Given the description of an element on the screen output the (x, y) to click on. 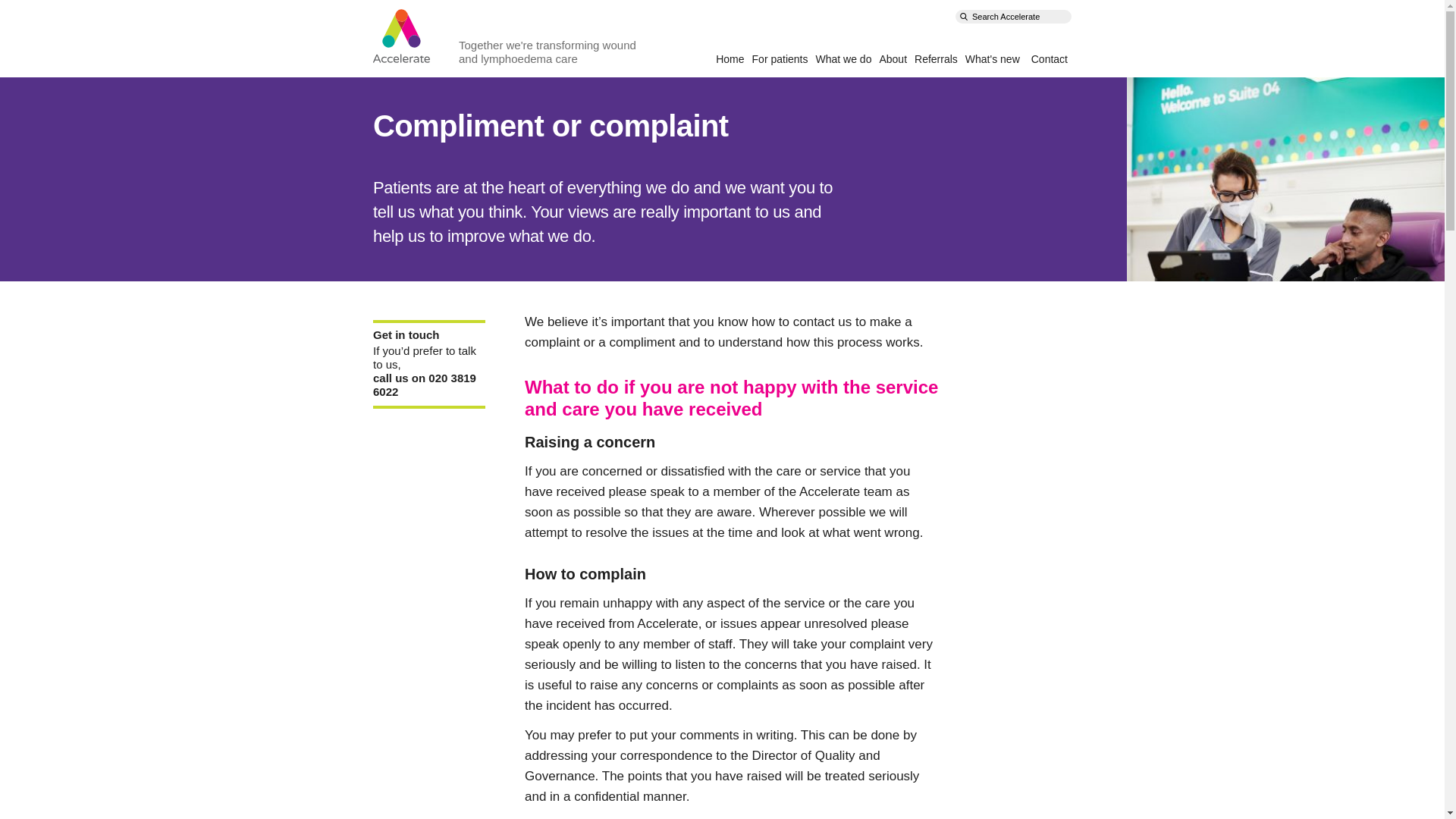
What's new (992, 58)
Contact (1048, 58)
What we do (843, 58)
Referrals (936, 58)
For patients (780, 58)
